Given the description of an element on the screen output the (x, y) to click on. 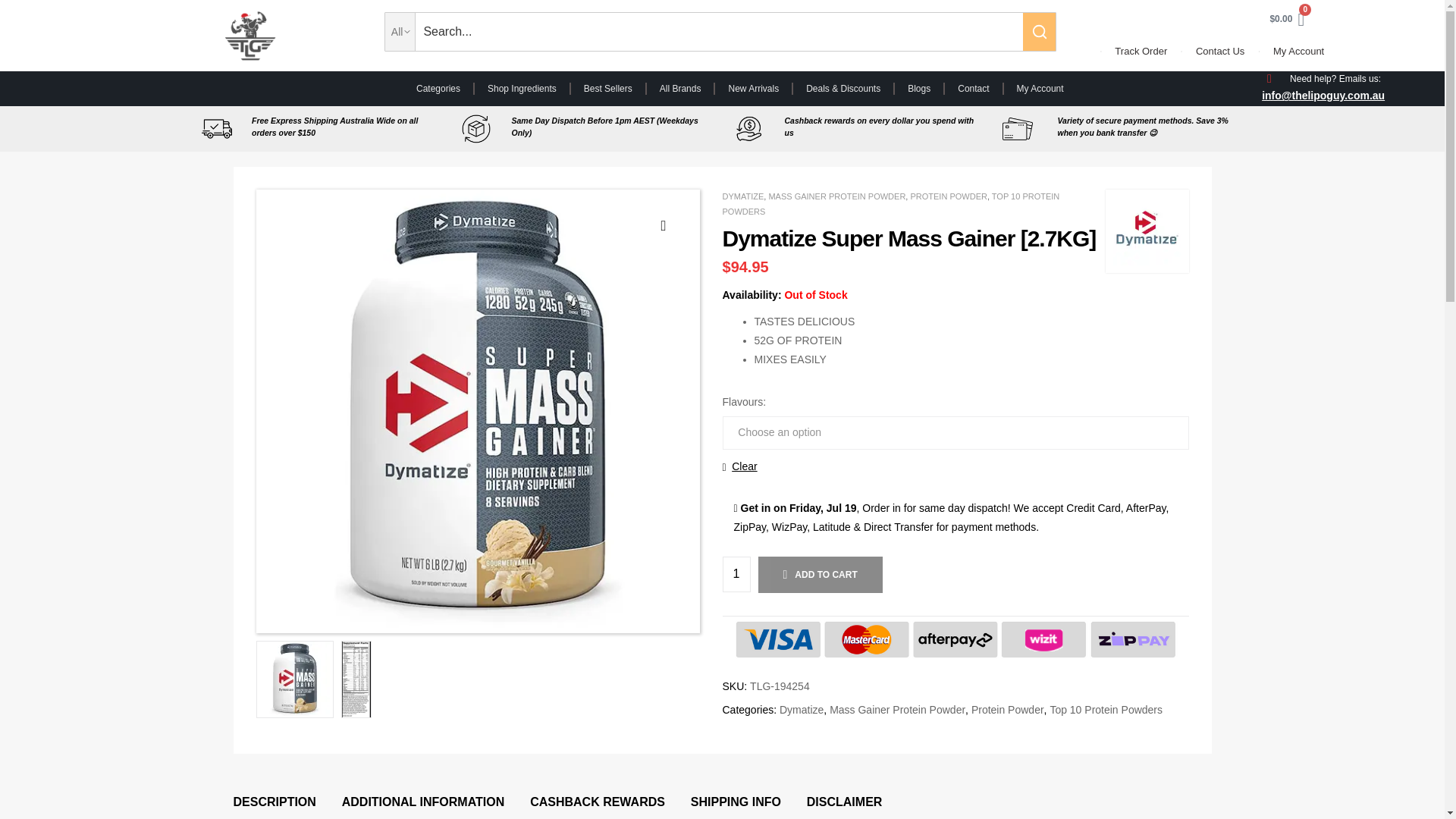
Search... (718, 31)
Search... (718, 31)
